Given the description of an element on the screen output the (x, y) to click on. 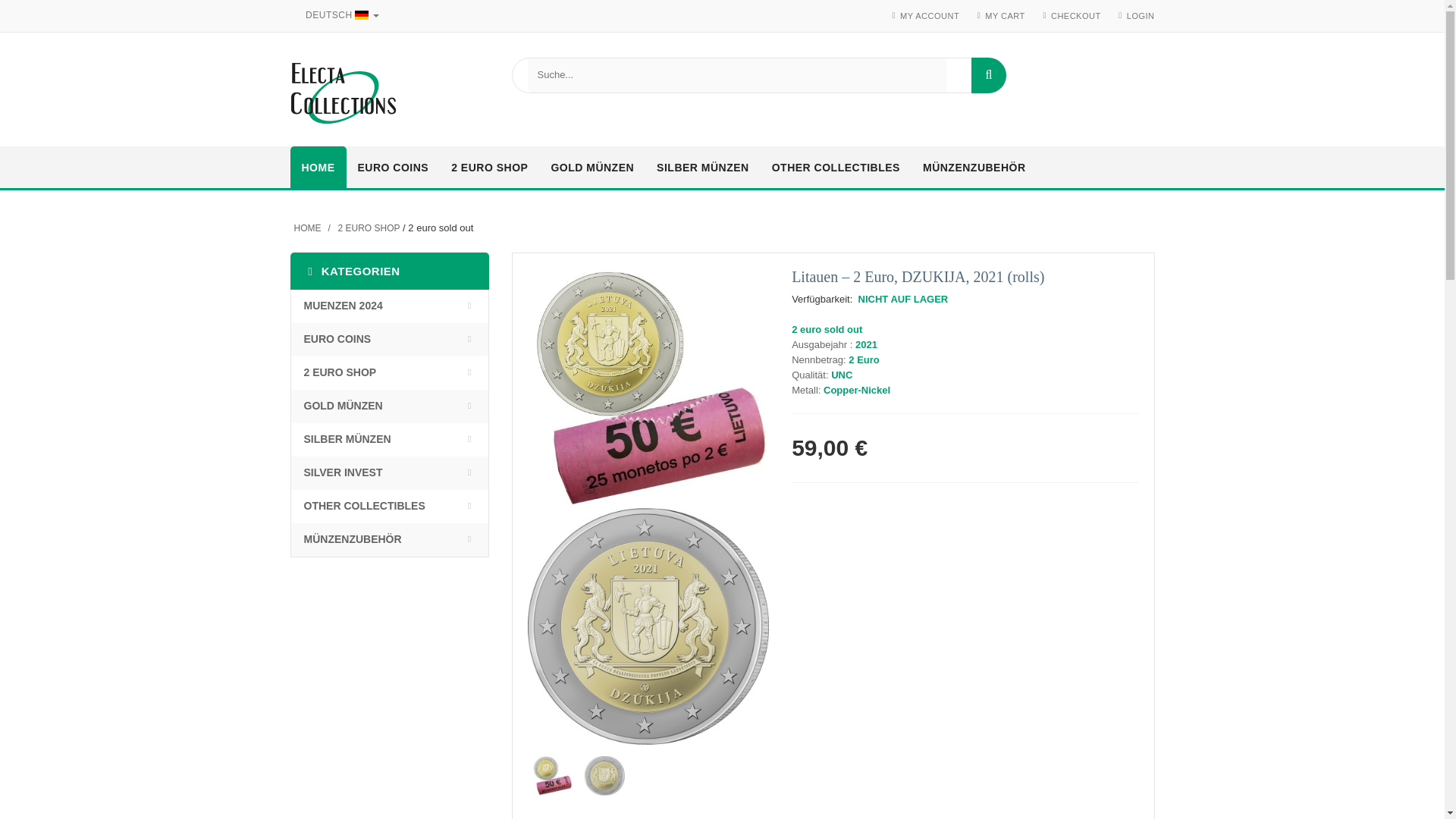
EURO COINS (392, 168)
LOGIN (1140, 15)
MY ACCOUNT (929, 15)
MY CART (1005, 15)
2 EURO SHOP (488, 168)
DEUTSCH (338, 15)
HOME (317, 168)
CHECKOUT (1075, 15)
